Given the description of an element on the screen output the (x, y) to click on. 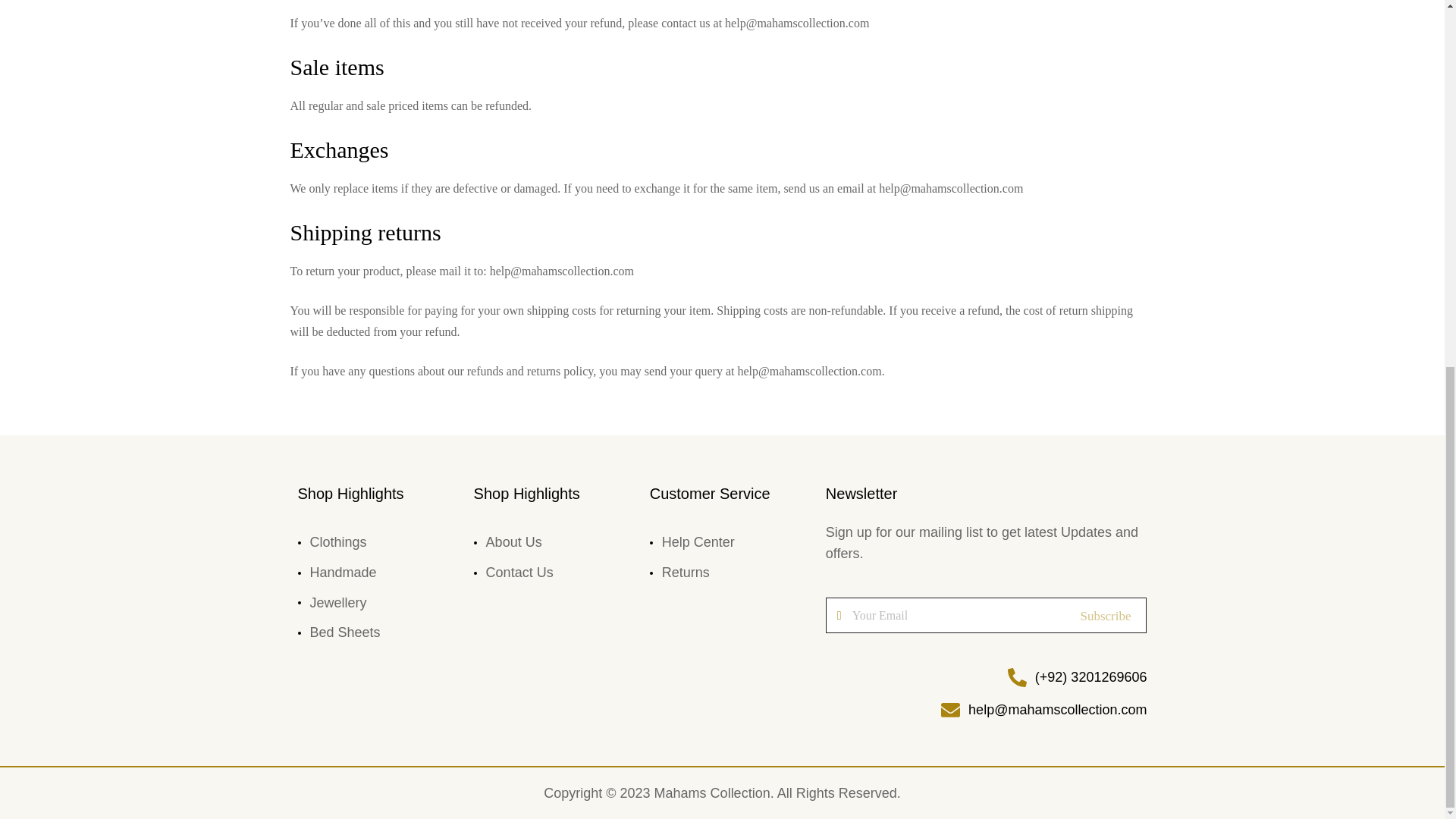
Clothings (338, 542)
Bed Sheets (338, 633)
Jewellery (338, 603)
Help Center (692, 542)
About Us (513, 542)
Handmade (338, 572)
Contact Us (513, 572)
Subscribe (1105, 616)
Returns (692, 572)
